Given the description of an element on the screen output the (x, y) to click on. 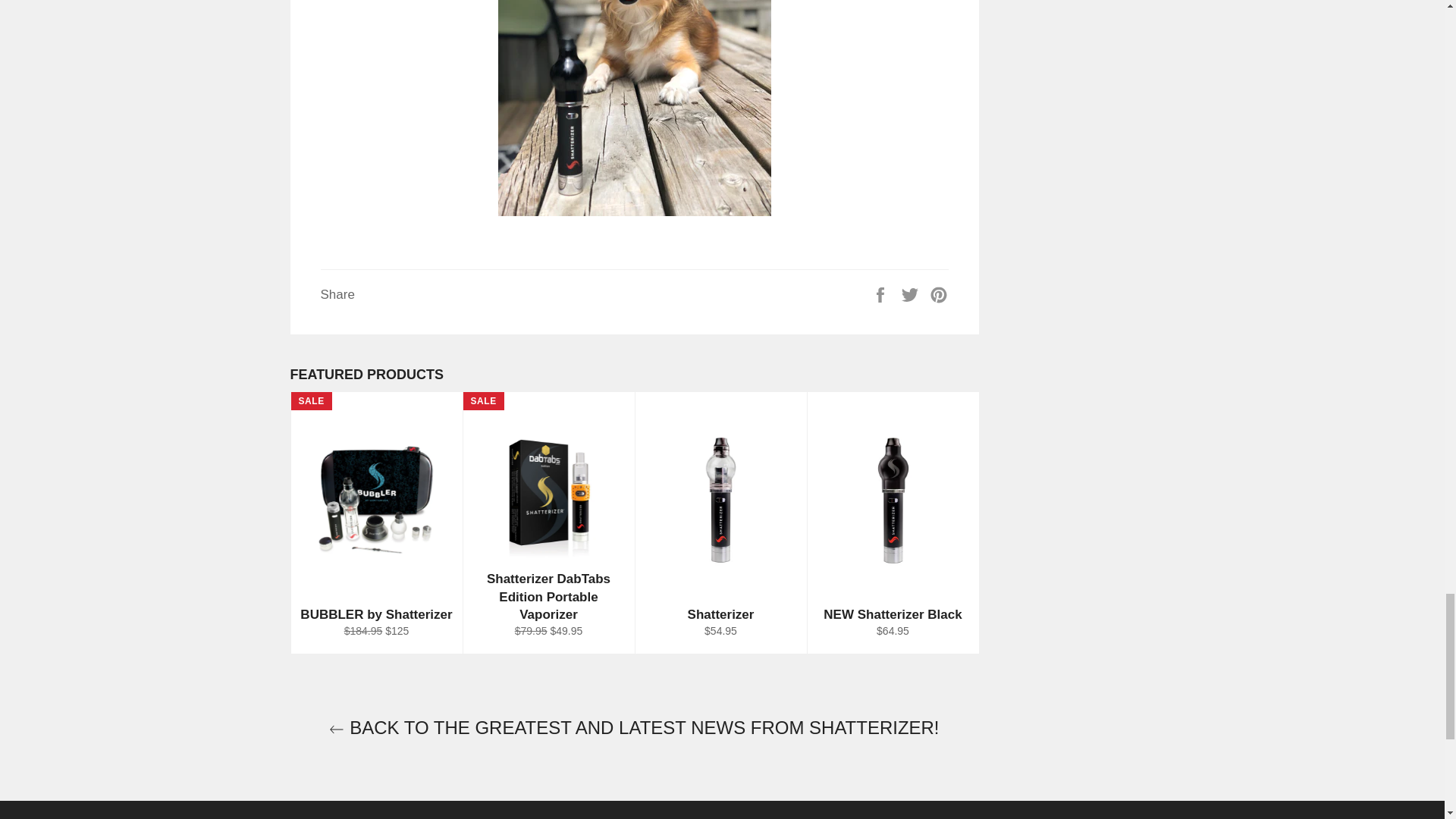
Pin on Pinterest (938, 293)
Tweet on Twitter (912, 293)
Share on Facebook (881, 293)
